Given the description of an element on the screen output the (x, y) to click on. 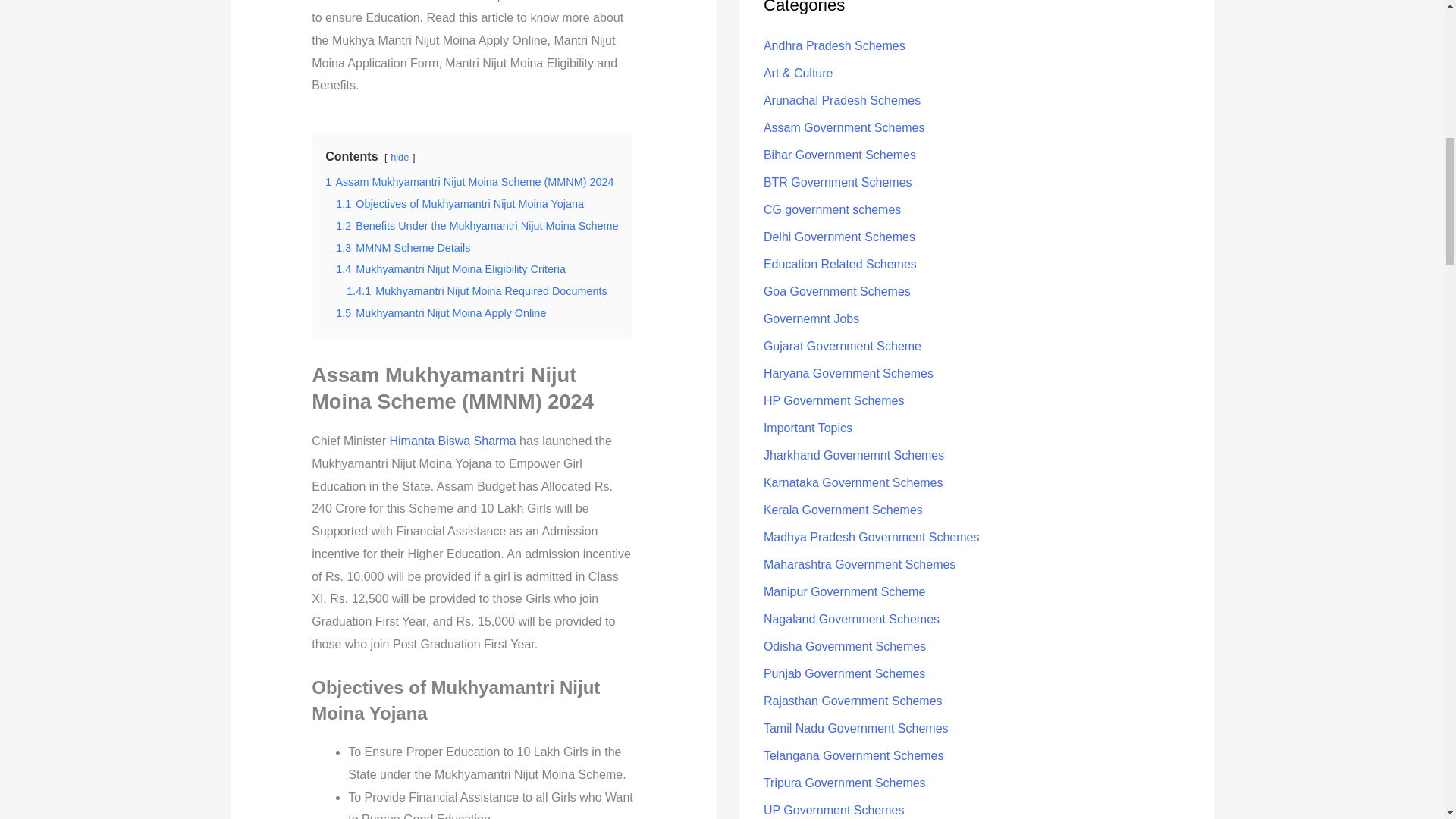
1.1 Objectives of Mukhyamantri Nijut Moina Yojana (459, 203)
1.3 MMNM Scheme Details (403, 247)
hide (399, 156)
Himanta Biswa Sharma (451, 440)
1.5 Mukhyamantri Nijut Moina Apply Online (441, 313)
1.4 Mukhyamantri Nijut Moina Eligibility Criteria (451, 268)
1.2 Benefits Under the Mukhyamantri Nijut Moina Scheme (476, 225)
1.4.1 Mukhyamantri Nijut Moina Required Documents (476, 291)
